Given the description of an element on the screen output the (x, y) to click on. 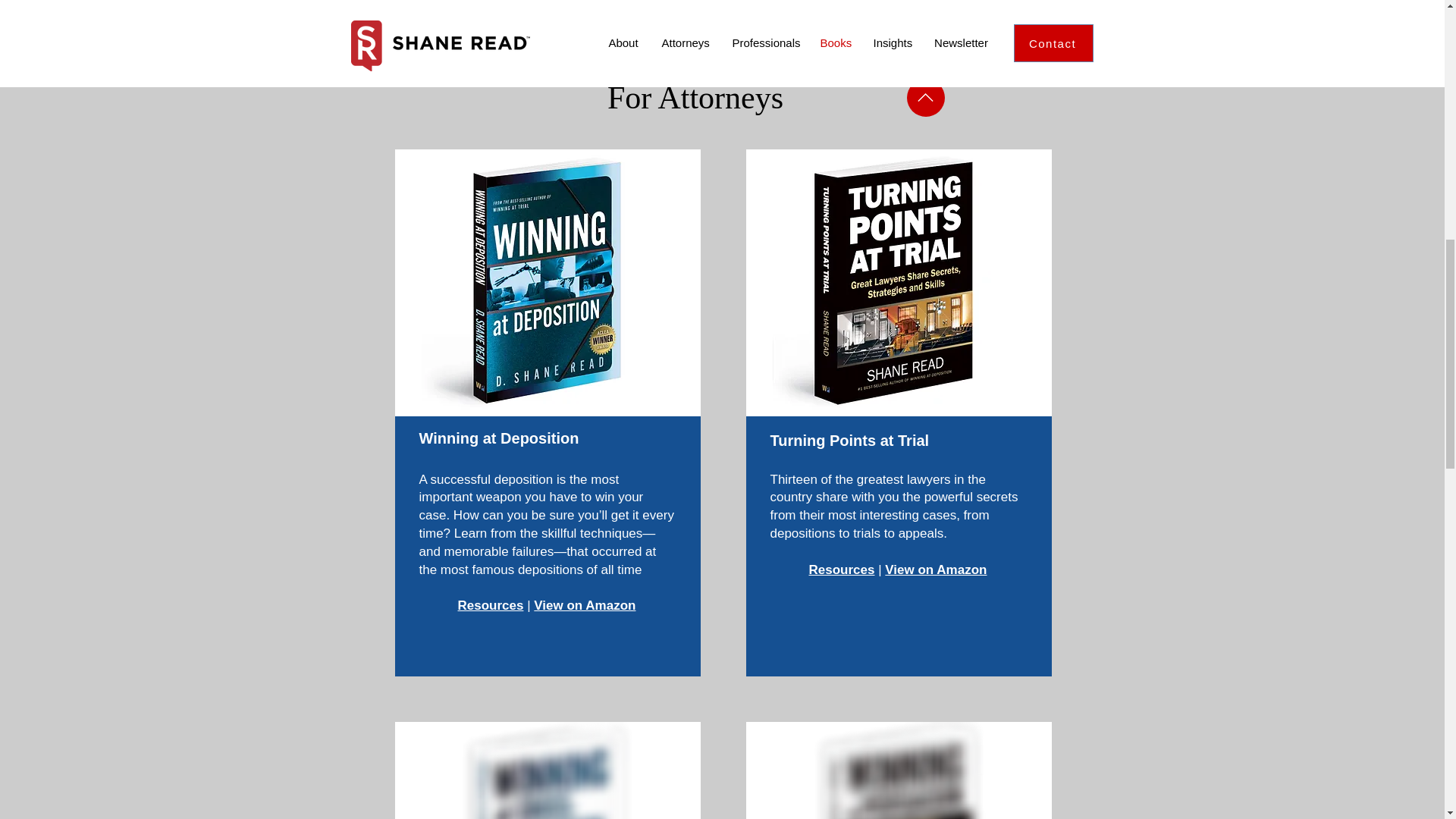
Resources (842, 569)
View on Amazon (584, 605)
View on Amazon (936, 569)
Resources (491, 605)
